Given the description of an element on the screen output the (x, y) to click on. 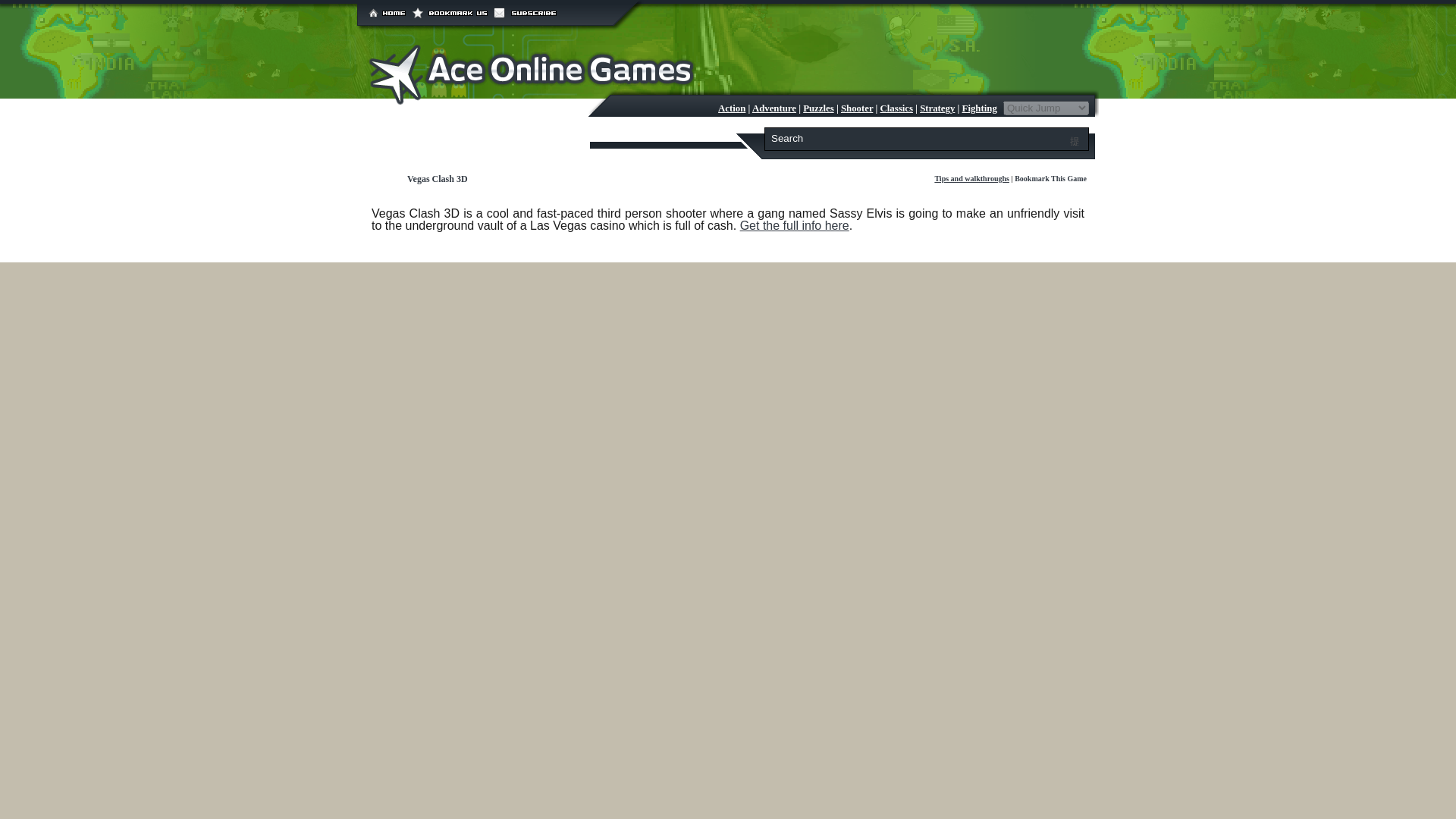
Tips and walkthroughs (971, 178)
Search (919, 138)
Puzzles (818, 108)
cheats and walthroughs for Vegas Clash 3D (971, 178)
Action (731, 108)
Strategy (937, 108)
Classics (896, 108)
Fighting (979, 108)
Shooter (856, 108)
Bookmark This Game (1050, 178)
